Given the description of an element on the screen output the (x, y) to click on. 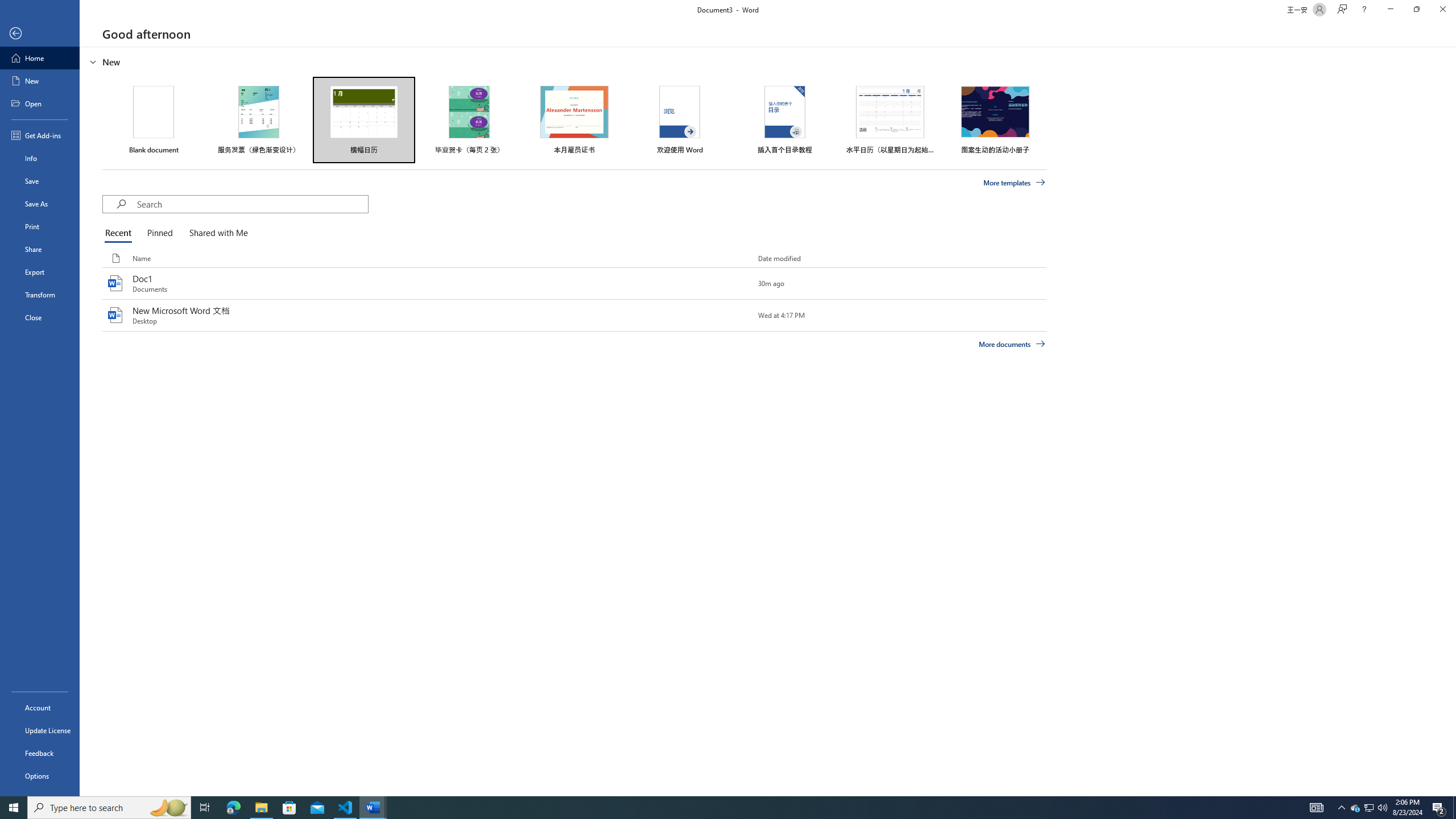
Search (252, 203)
Close (40, 317)
Options (40, 775)
Help (1364, 9)
Account (40, 707)
Close (1442, 9)
Pin this item to the list (739, 314)
Hide or show region (92, 61)
Transform (40, 294)
Doc1 (573, 283)
Print (40, 225)
Minimize (1390, 9)
